Given the description of an element on the screen output the (x, y) to click on. 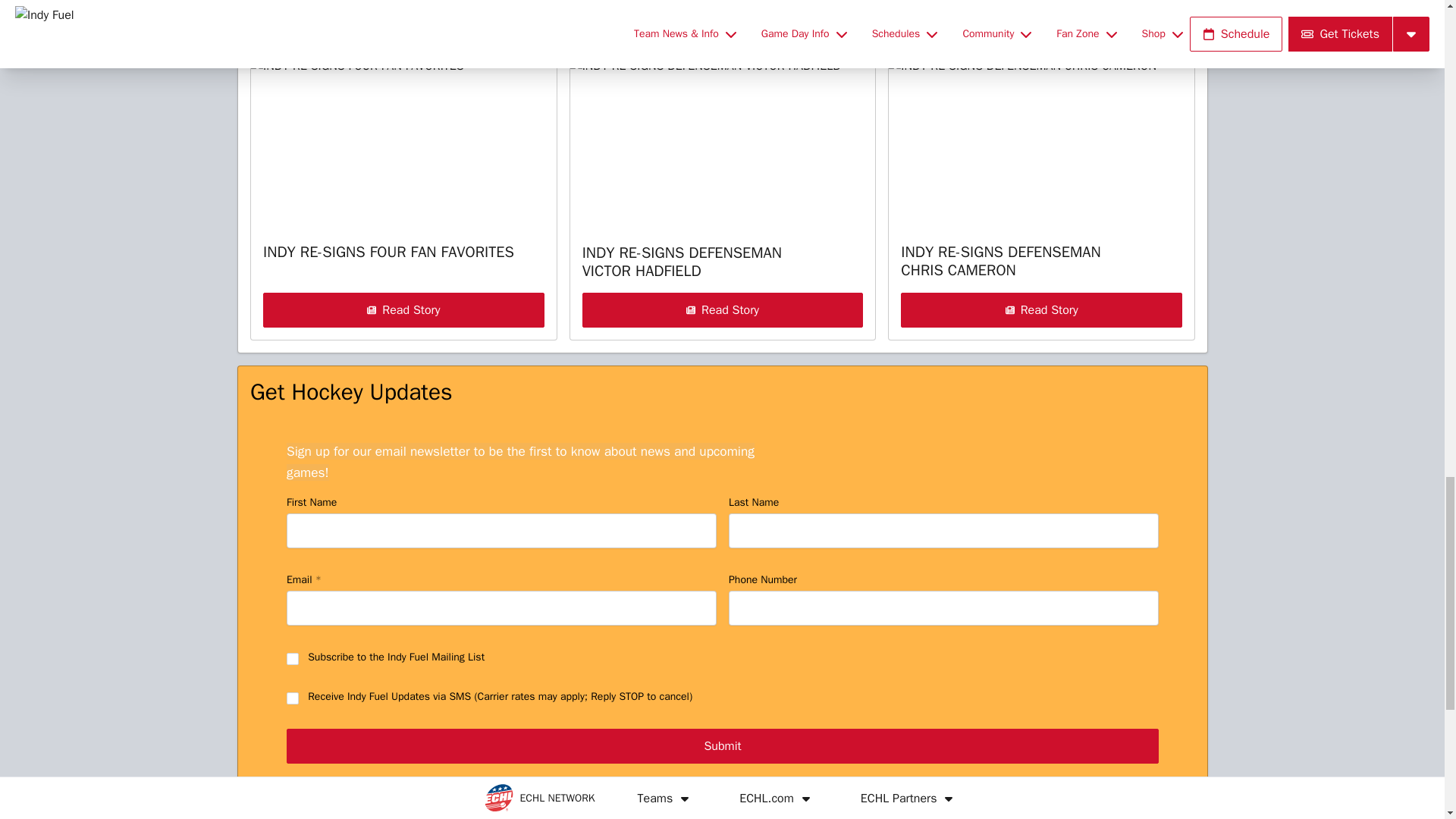
on (292, 698)
on (292, 658)
